Given the description of an element on the screen output the (x, y) to click on. 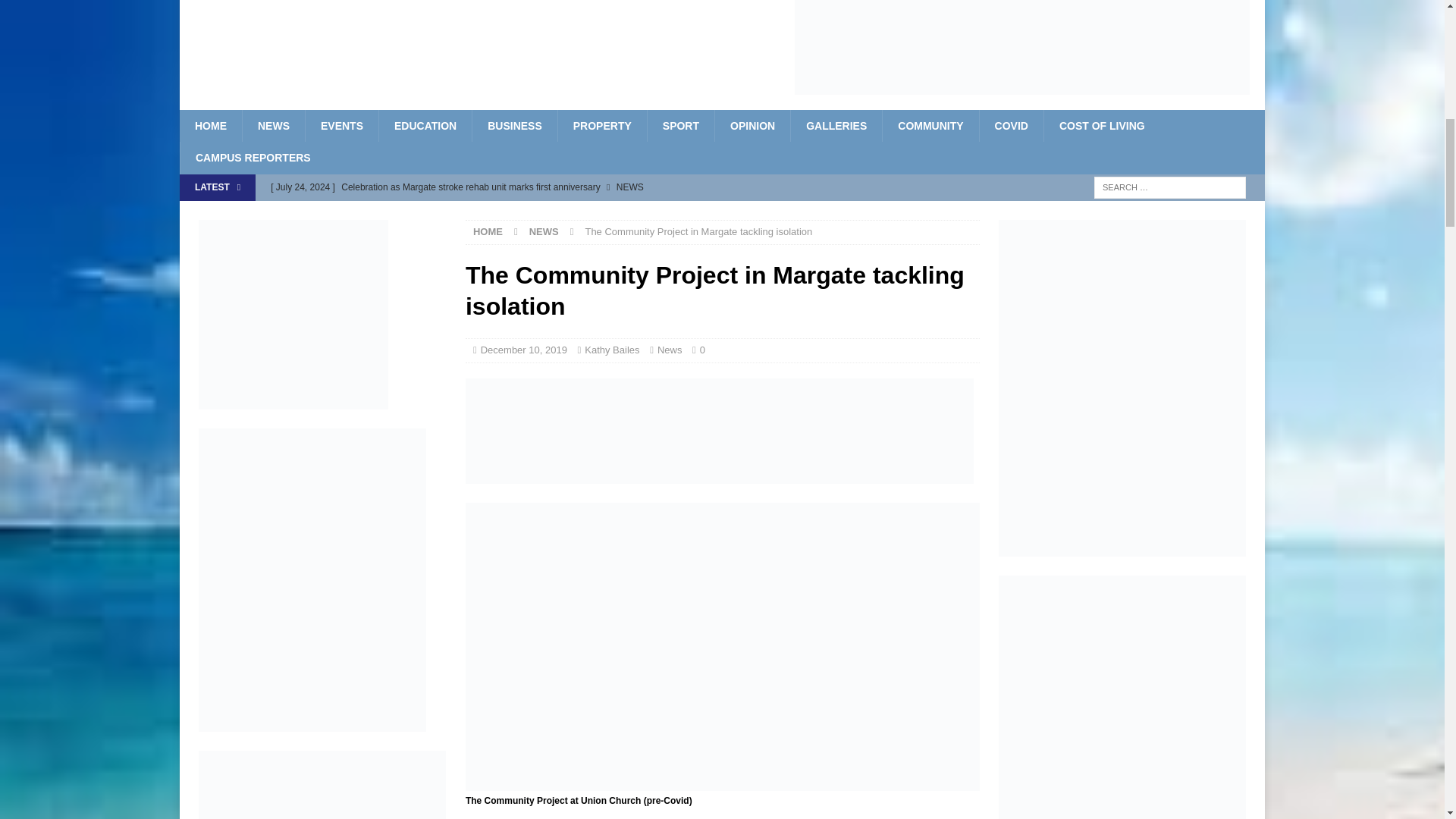
GALLERIES (836, 125)
COMMUNITY (930, 125)
HOME (210, 125)
CAMPUS REPORTERS (252, 157)
COST OF LIVING (1101, 125)
PROPERTY (601, 125)
NEWS (272, 125)
EVENTS (341, 125)
COVID (1010, 125)
OPINION (752, 125)
BUSINESS (514, 125)
EDUCATION (424, 125)
SPORT (680, 125)
